Given the description of an element on the screen output the (x, y) to click on. 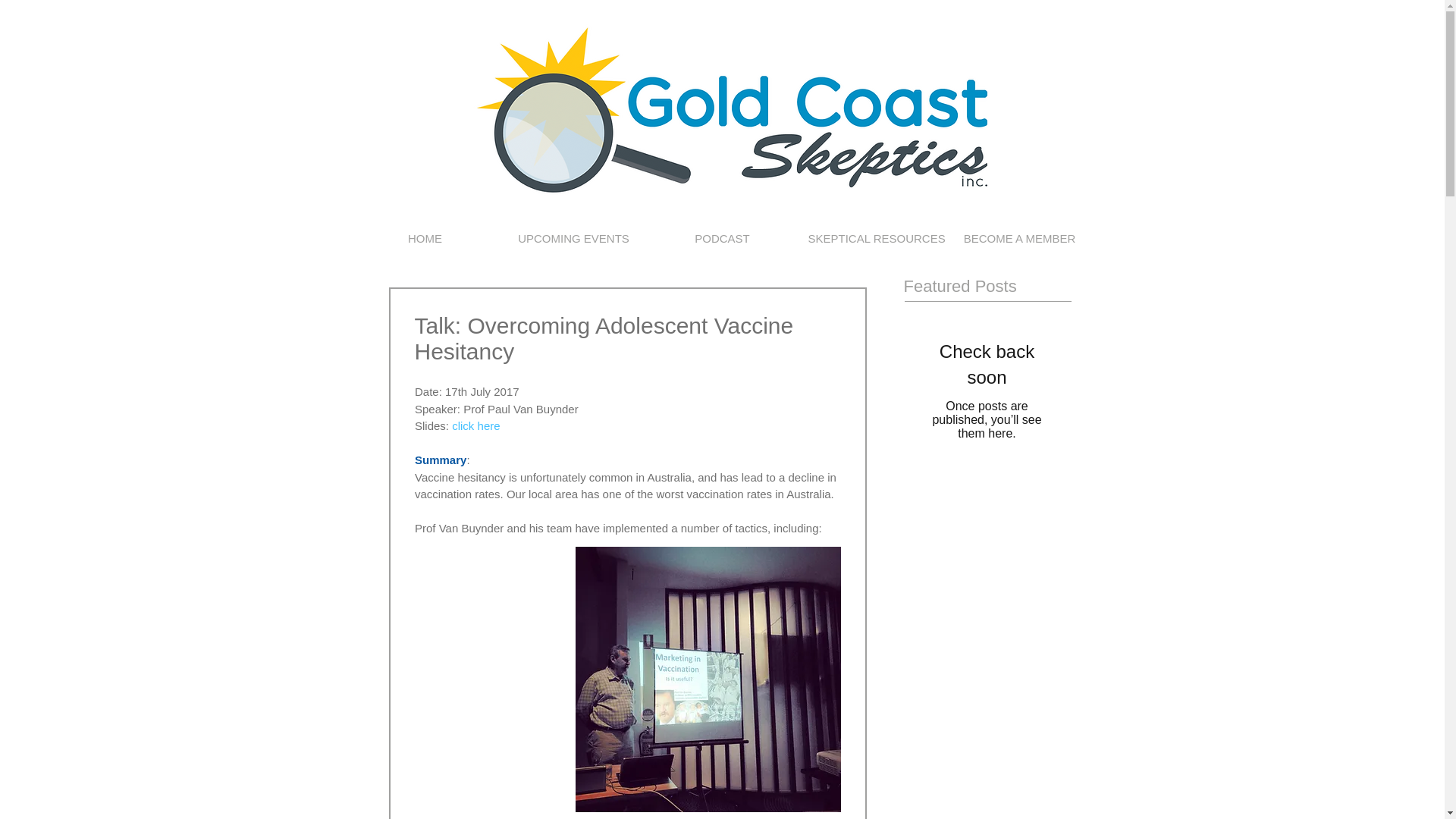
PODCAST (721, 238)
click here (475, 425)
UPCOMING EVENTS (573, 238)
HOME (424, 238)
BECOME A MEMBER (1018, 238)
